Given the description of an element on the screen output the (x, y) to click on. 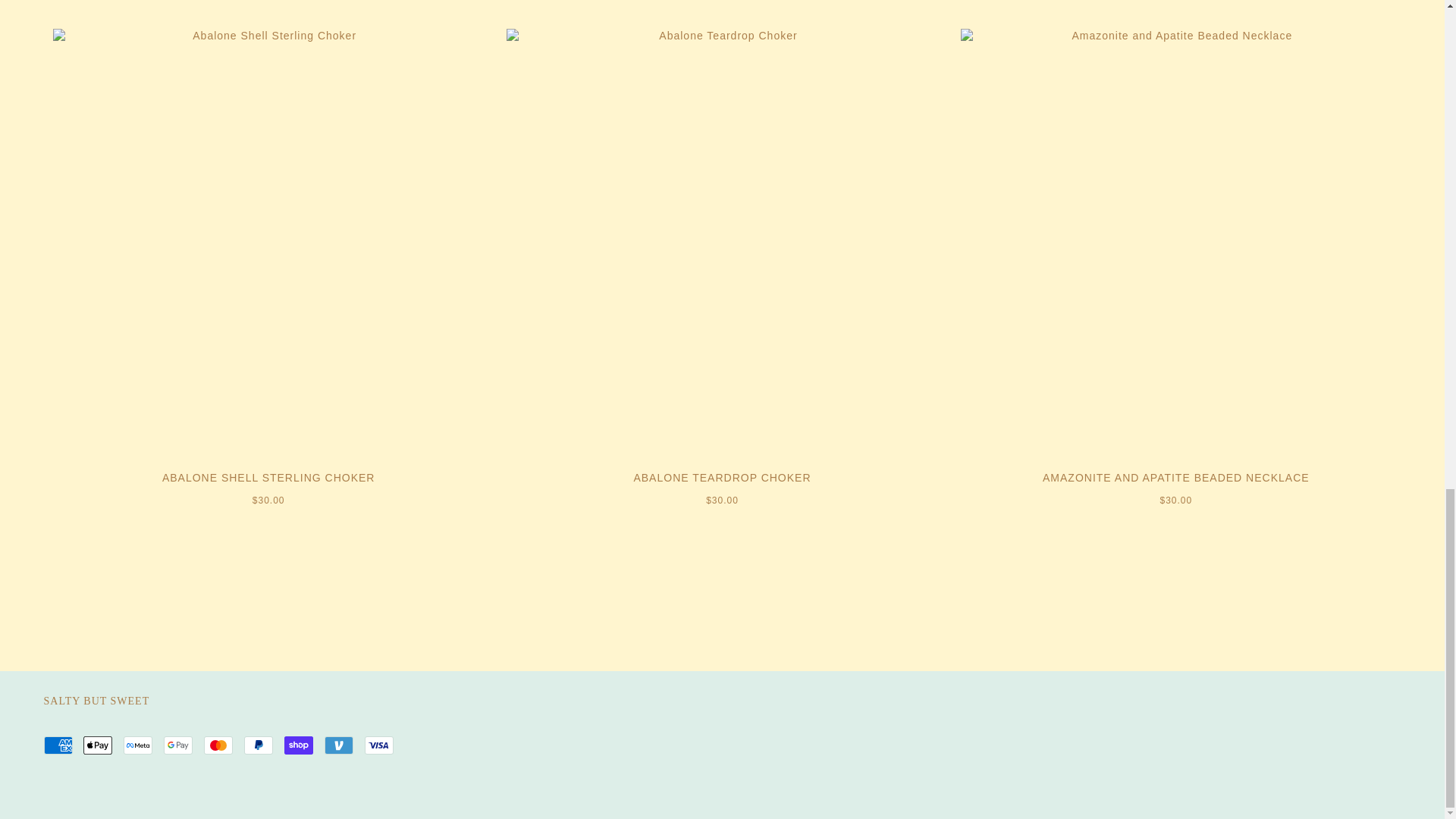
Visa (379, 745)
Apple Pay (97, 745)
Shop Pay (298, 745)
Venmo (338, 745)
Meta Pay (137, 745)
PayPal (258, 745)
American Express (57, 745)
Google Pay (177, 745)
Mastercard (217, 745)
